Given the description of an element on the screen output the (x, y) to click on. 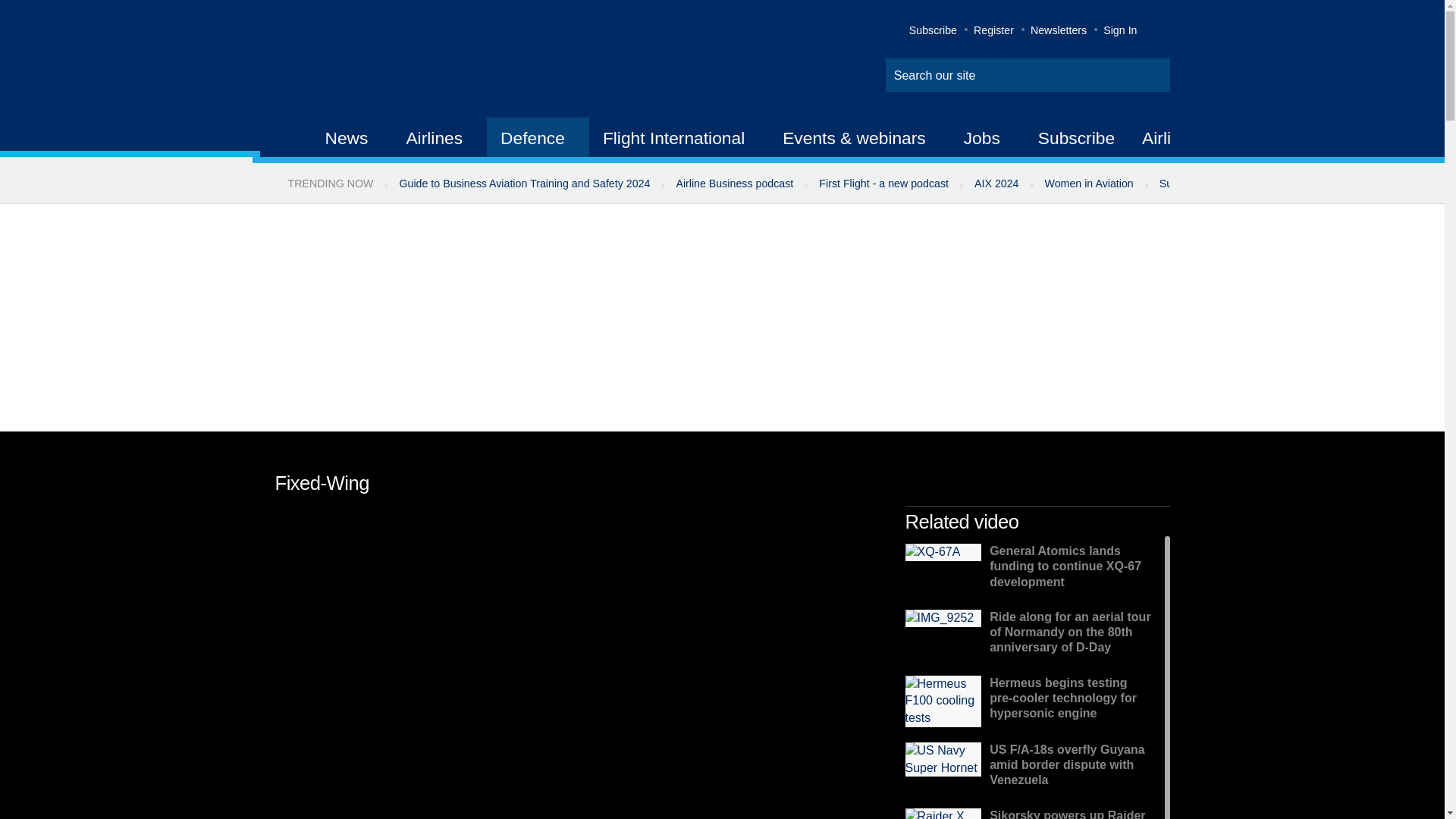
Sustainable Aviation newsletter (1234, 183)
AIX 2024 (996, 183)
Guide to Business Aviation Training and Safety 2024 (523, 183)
Site name (422, 60)
First Flight - a new podcast (883, 183)
Women in Aviation (1089, 183)
Airline Business podcast (734, 183)
